Given the description of an element on the screen output the (x, y) to click on. 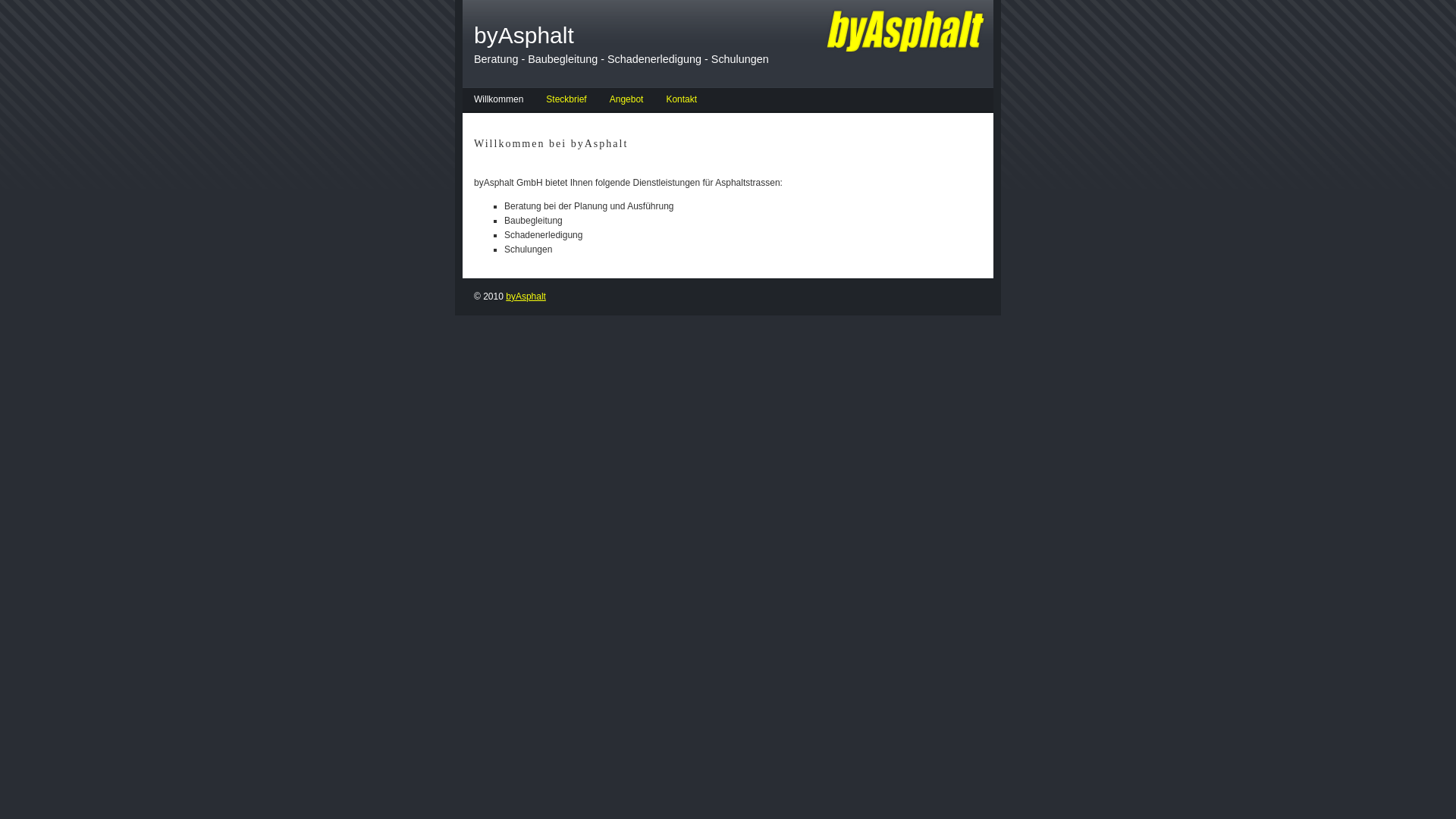
Willkommen Element type: text (498, 100)
Steckbrief Element type: text (565, 100)
byAsphalt Element type: text (525, 296)
Angebot Element type: text (626, 100)
Kontakt Element type: text (681, 100)
